Given the description of an element on the screen output the (x, y) to click on. 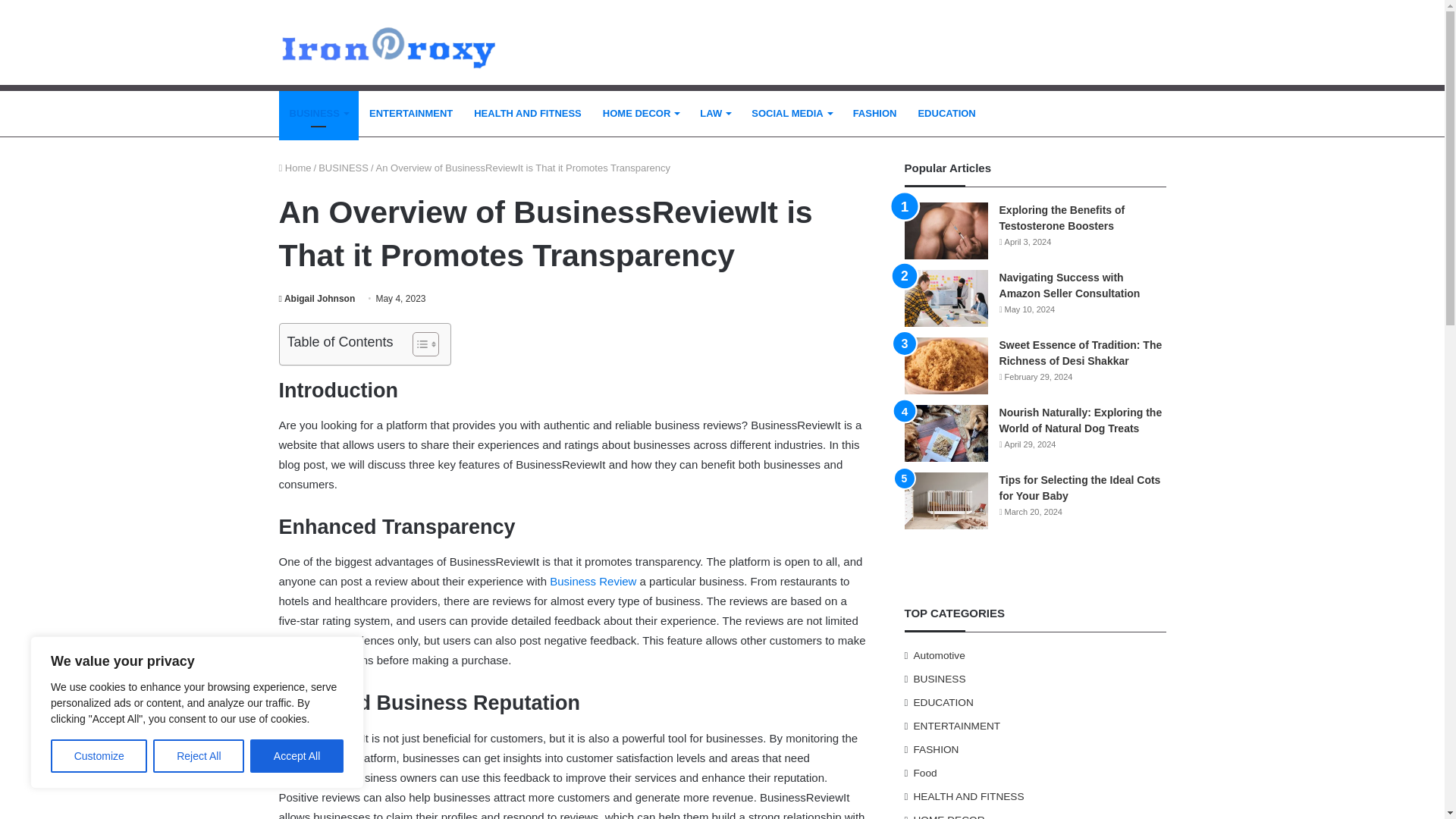
BUSINESS (343, 167)
Accept All (296, 756)
HOME DECOR (641, 113)
ENTERTAINMENT (410, 113)
FASHION (875, 113)
Iron Proxy (388, 42)
Abigail Johnson (317, 298)
SOCIAL MEDIA (791, 113)
Customize (98, 756)
BUSINESS (318, 113)
Home (295, 167)
LAW (714, 113)
Abigail Johnson (317, 298)
EDUCATION (946, 113)
Reject All (198, 756)
